Given the description of an element on the screen output the (x, y) to click on. 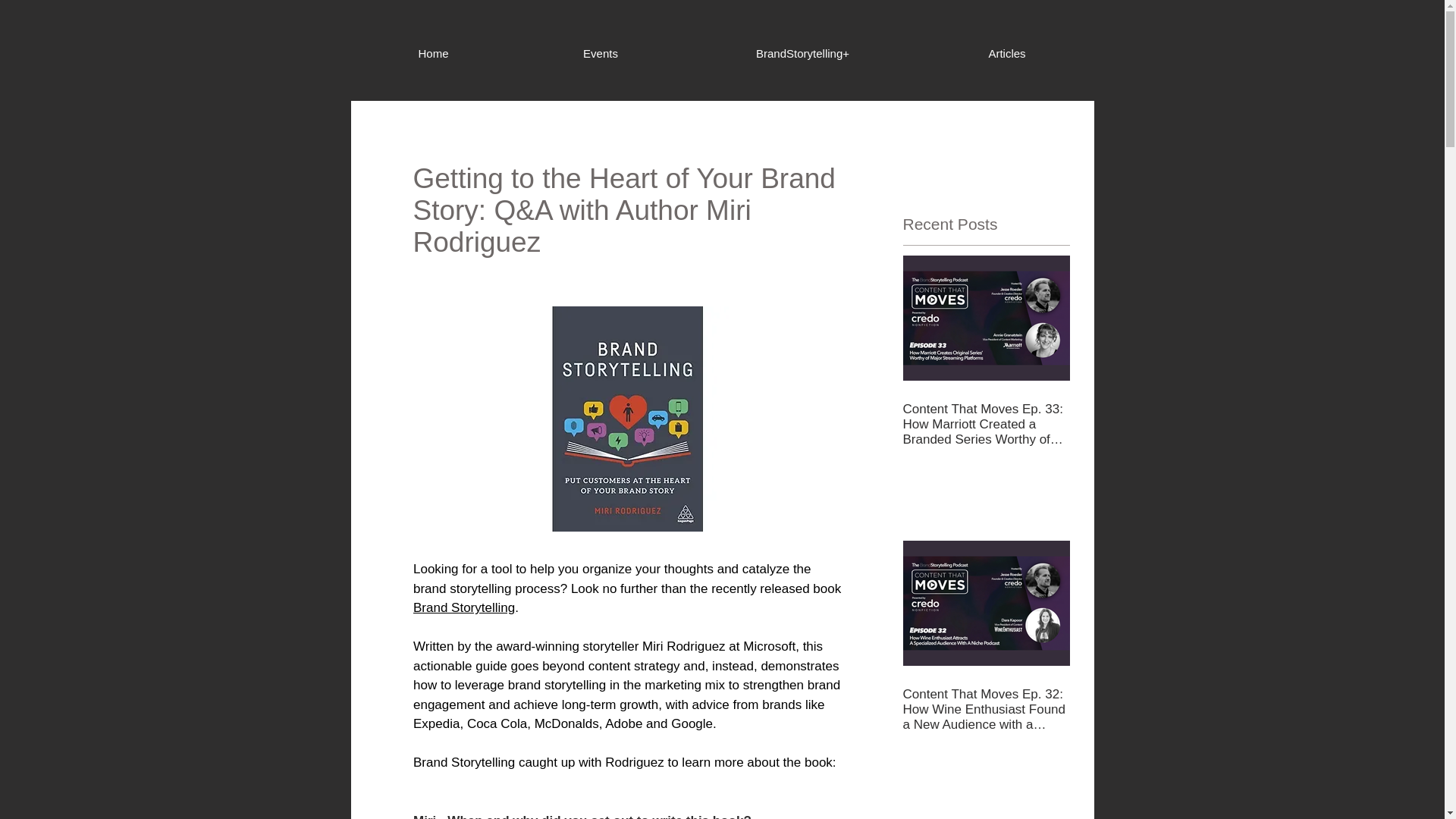
Brand Storytelling (462, 607)
Home (432, 53)
Events (599, 53)
Articles (1007, 53)
